Given the description of an element on the screen output the (x, y) to click on. 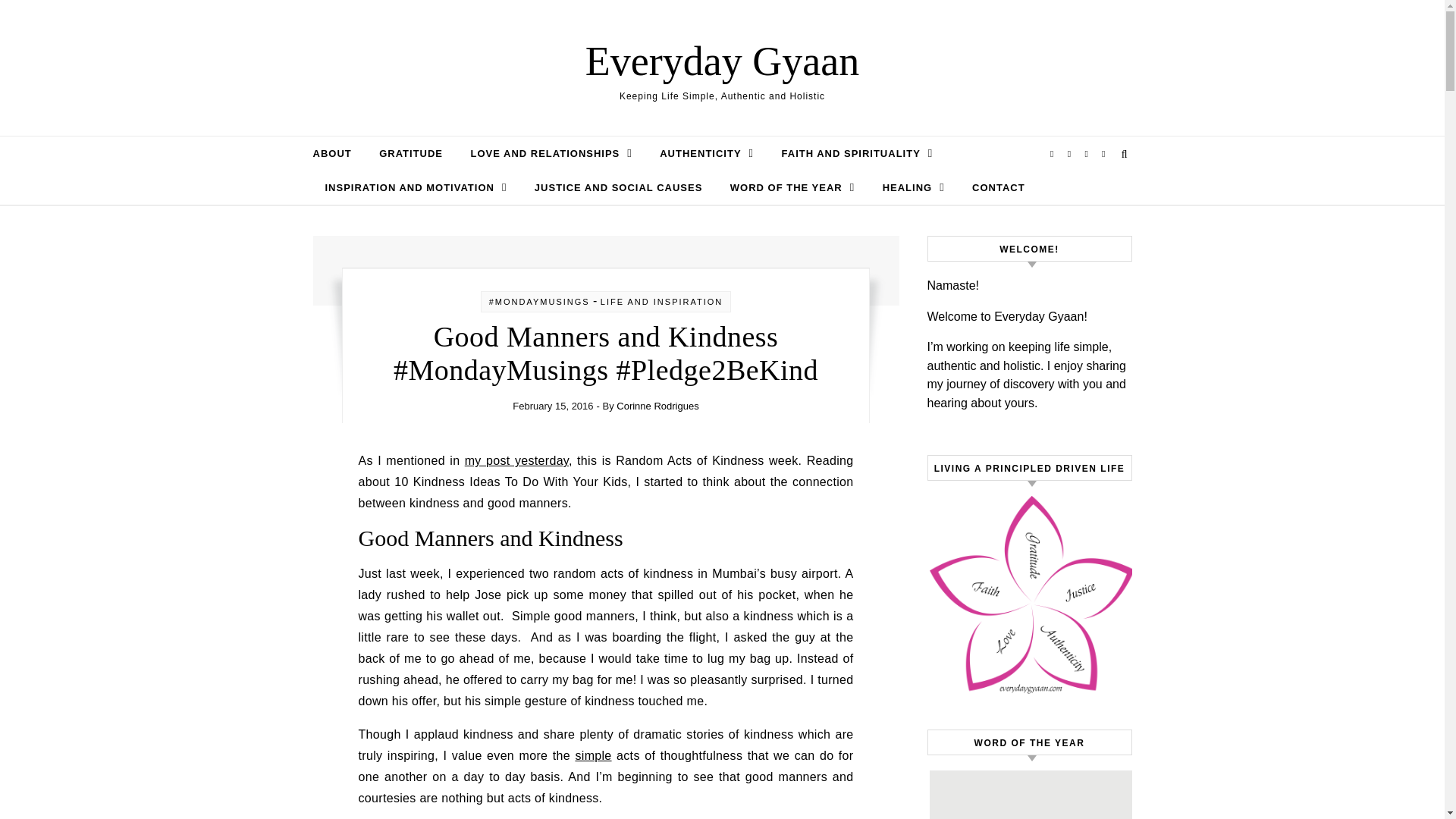
JUSTICE AND SOCIAL CAUSES (618, 187)
HEALING (913, 187)
Posts by Corinne Rodrigues (656, 405)
LOVE AND RELATIONSHIPS (550, 153)
GRATITUDE (410, 153)
CONTACT (992, 187)
AUTHENTICITY (706, 153)
INSPIRATION AND MOTIVATION (415, 187)
FAITH AND SPIRITUALITY (857, 153)
WORD OF THE YEAR (791, 187)
ABOUT (337, 153)
Everyday Gyaan (721, 61)
